Given the description of an element on the screen output the (x, y) to click on. 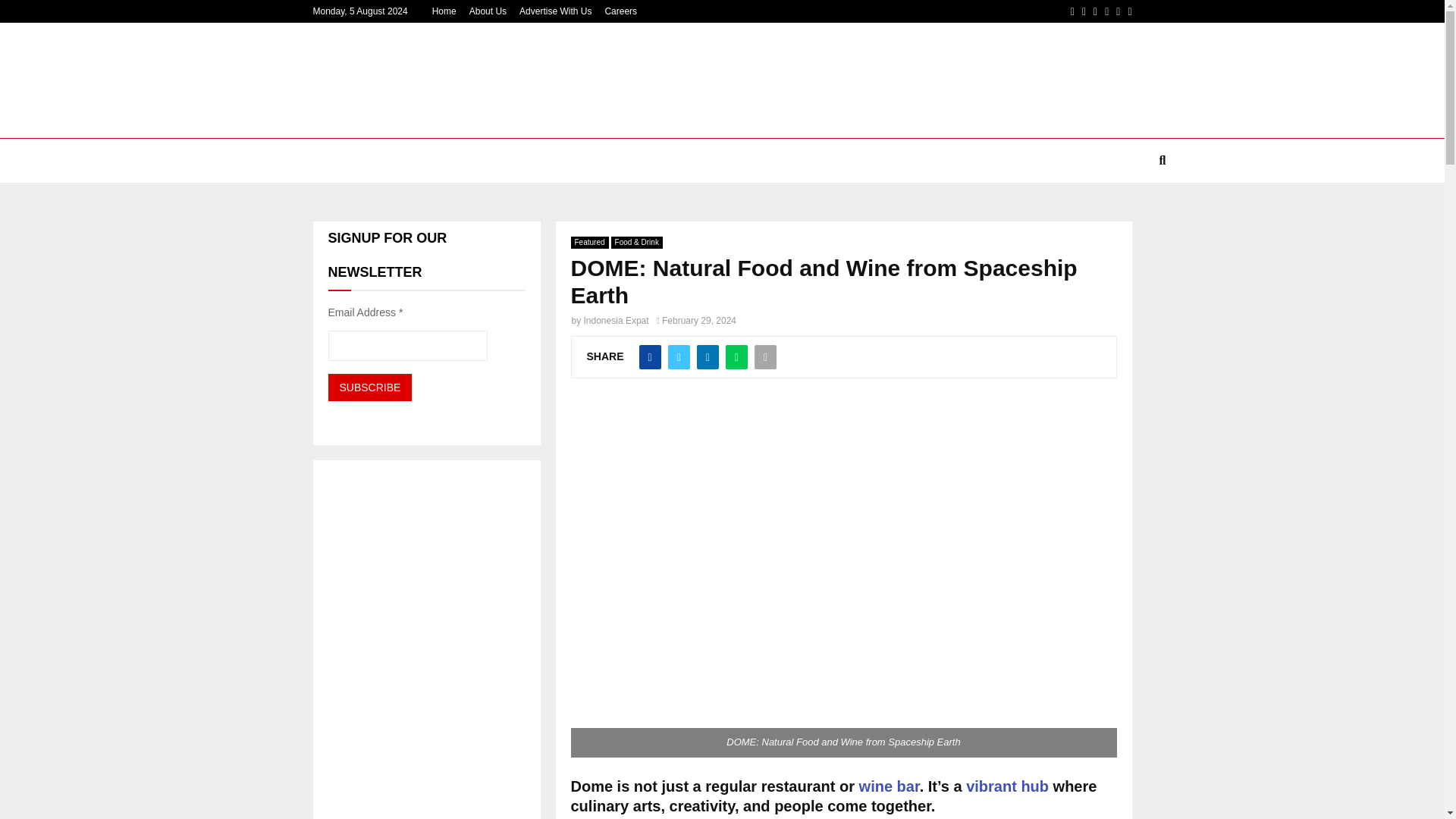
About Us (487, 11)
Twitter (1083, 11)
Home (444, 11)
MEMBER AREA (984, 160)
Advertise With Us (555, 11)
Facebook (1072, 11)
BUSINESS (403, 160)
Email (1128, 11)
Twitter (1083, 11)
Youtube (1117, 11)
VIDEO (904, 160)
LIFESTYLE (488, 160)
NEWS (334, 160)
Email (1128, 11)
Facebook (1072, 11)
